Given the description of an element on the screen output the (x, y) to click on. 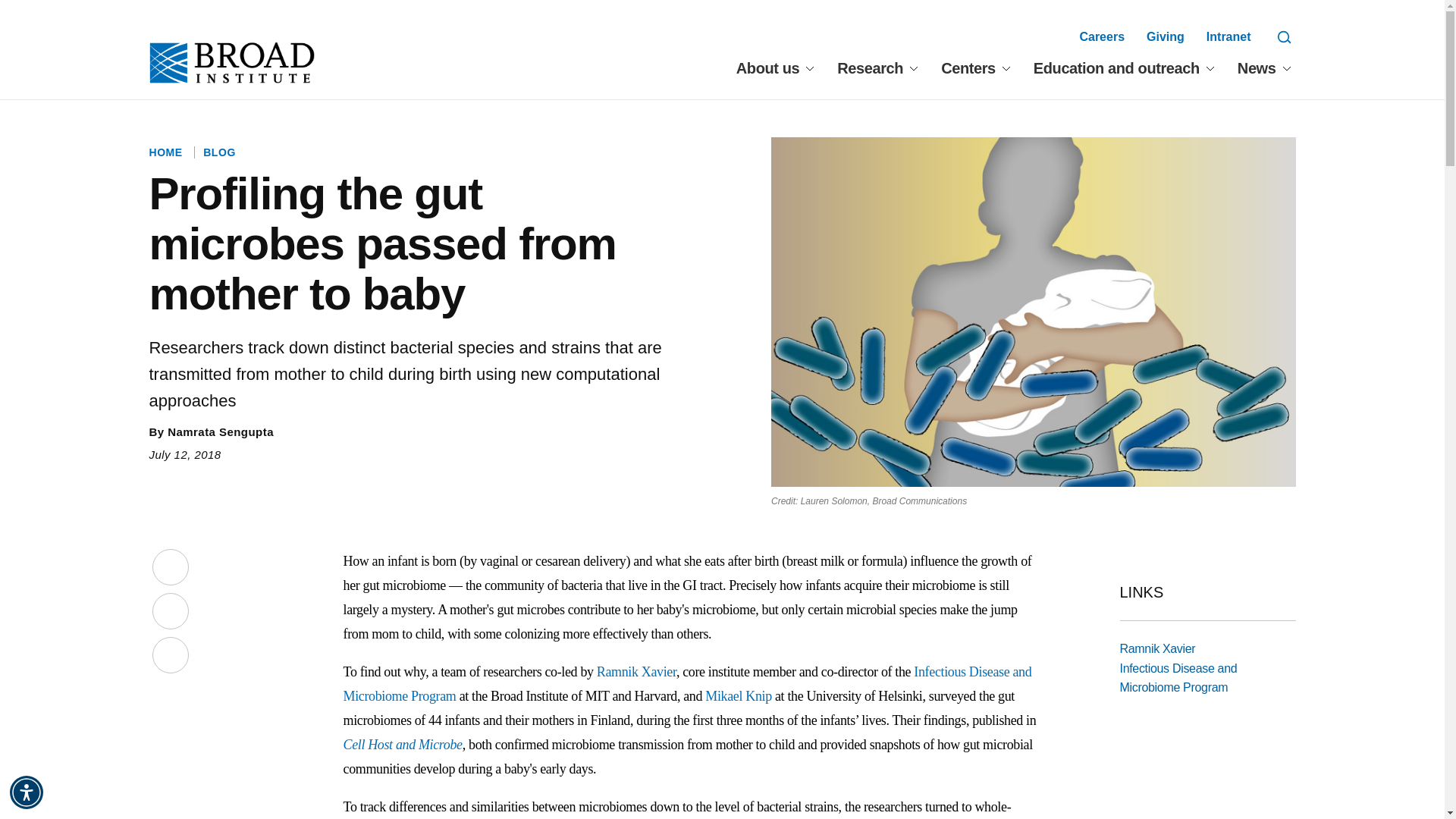
Careers (1101, 36)
Intranet (1228, 36)
Accessibility Menu (26, 792)
Broad Institute Intranet (1228, 36)
Giving (1166, 36)
